Given the description of an element on the screen output the (x, y) to click on. 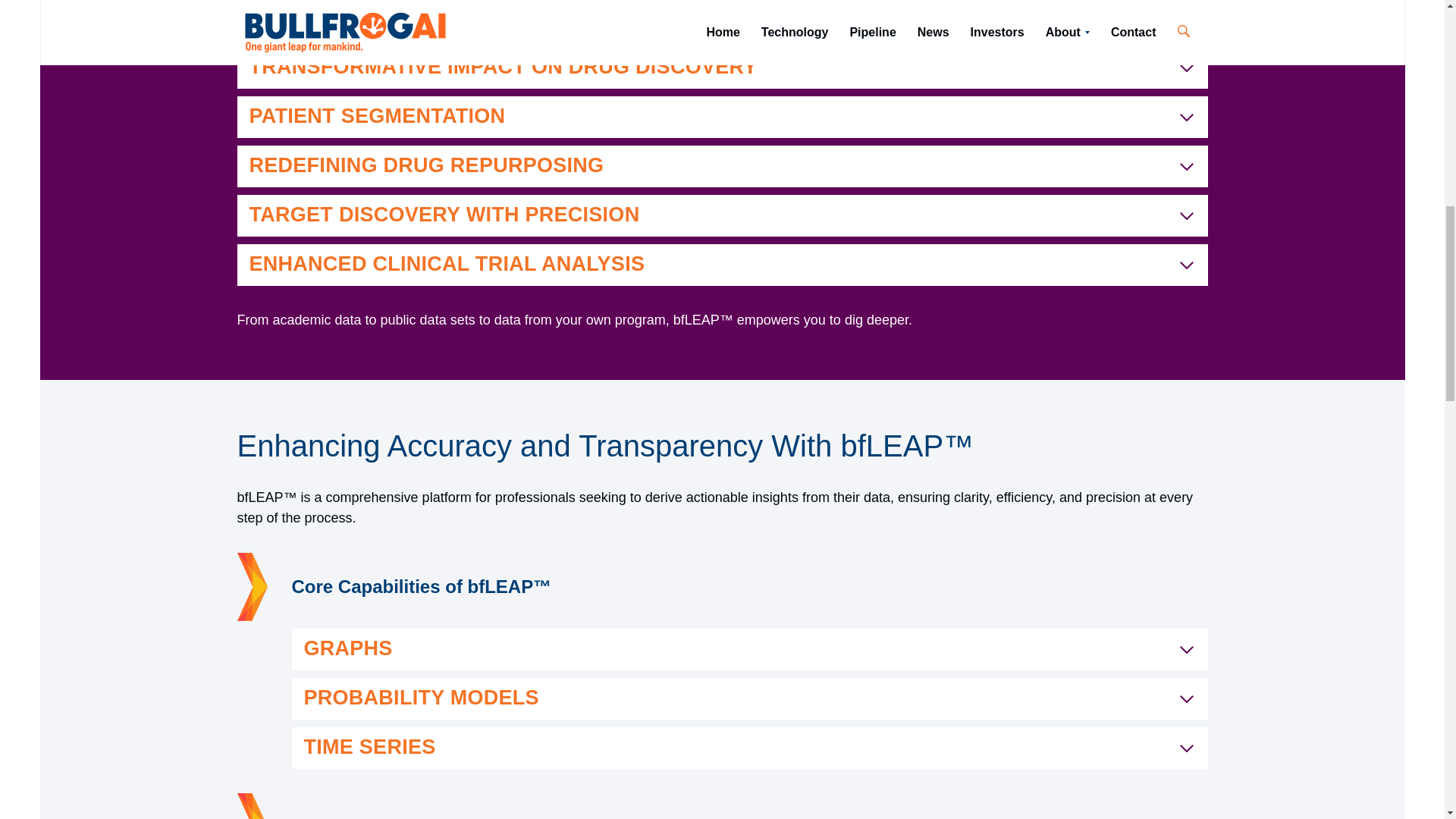
GRAPHS (749, 649)
TARGET DISCOVERY WITH PRECISION (721, 215)
PATIENT SEGMENTATION (721, 117)
PROBABILITY MODELS (749, 698)
ENHANCED CLINICAL TRIAL ANALYSIS (721, 264)
TIME SERIES (749, 748)
TRANSFORMATIVE IMPACT ON DRUG DISCOVERY (721, 67)
REDEFINING DRUG REPURPOSING (721, 166)
